Given the description of an element on the screen output the (x, y) to click on. 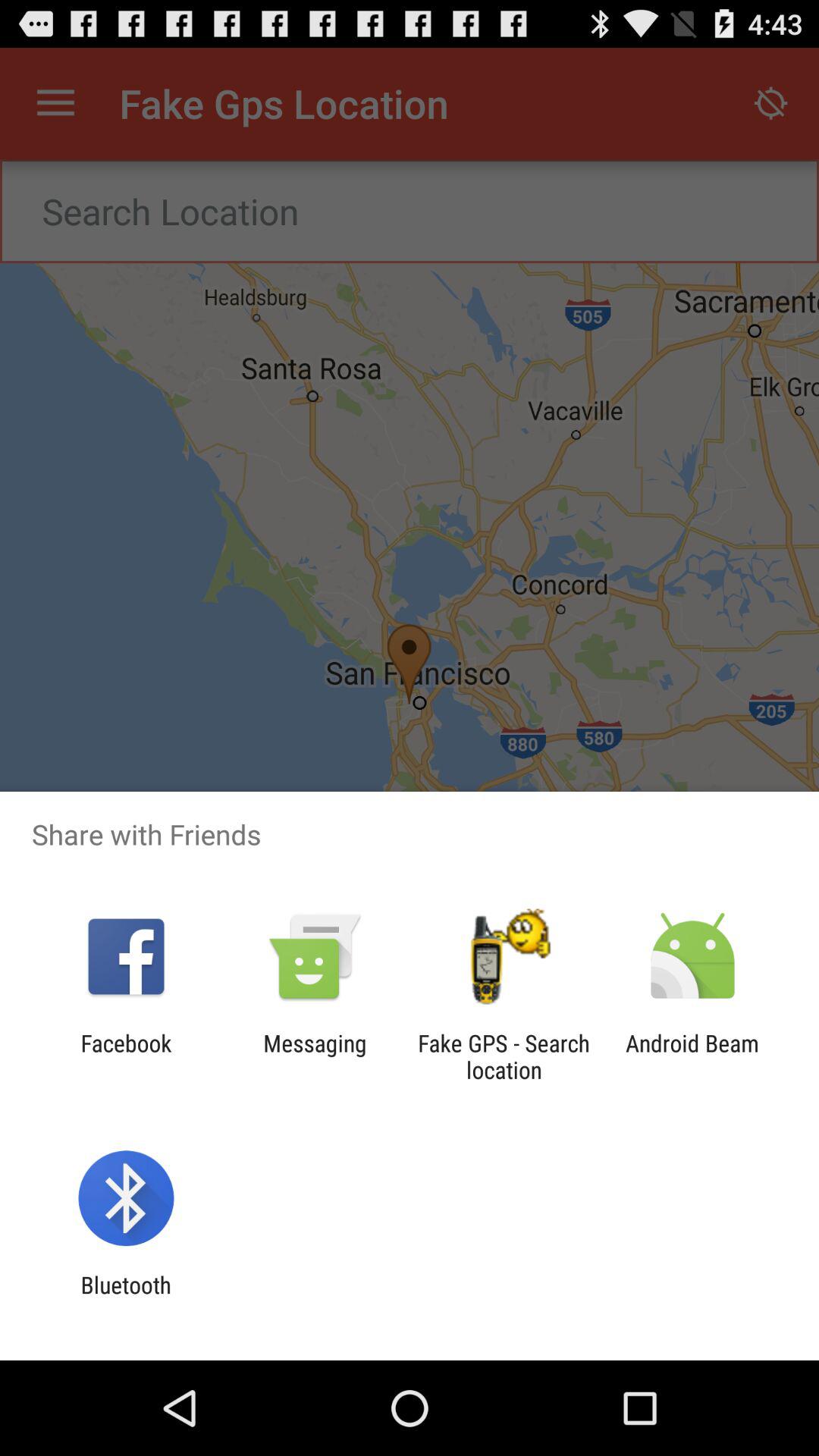
jump to messaging item (314, 1056)
